Given the description of an element on the screen output the (x, y) to click on. 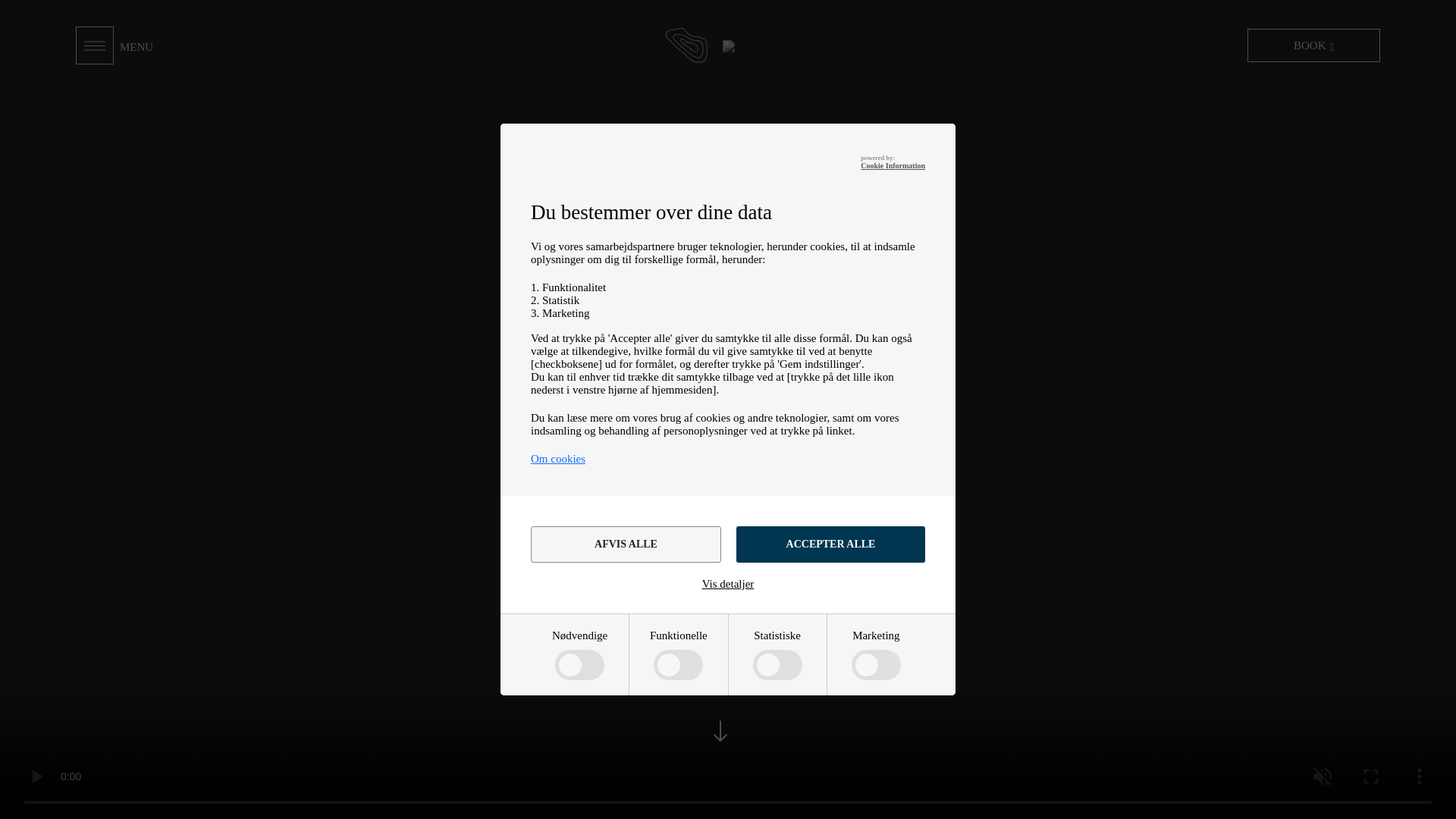
Cookie Information (892, 165)
ACCEPTER ALLE (830, 544)
AFVIS ALLE (625, 544)
Vis detaljer (727, 584)
Om cookies (558, 458)
